Given the description of an element on the screen output the (x, y) to click on. 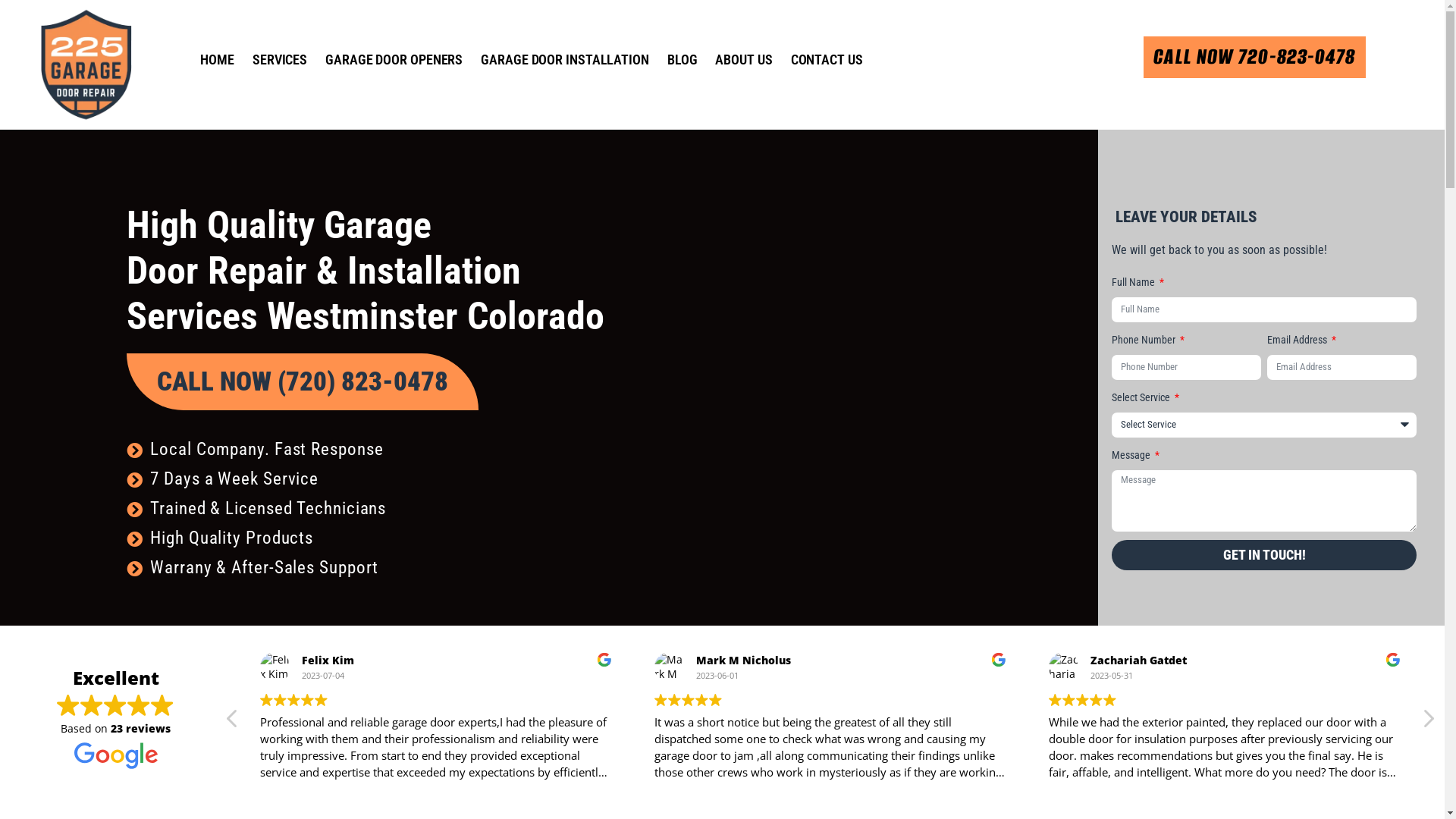
CONTACT US Element type: text (826, 59)
SERVICES Element type: text (279, 59)
CALL NOW (720) 823-0478 Element type: text (302, 381)
GET IN TOUCH! Element type: text (1263, 554)
CALL NOW 720-823-0478 Element type: text (1254, 57)
ABOUT US Element type: text (743, 59)
BLOG Element type: text (682, 59)
HOME Element type: text (217, 59)
GARAGE DOOR OPENERS Element type: text (393, 59)
GARAGE DOOR INSTALLATION Element type: text (564, 59)
